Given the description of an element on the screen output the (x, y) to click on. 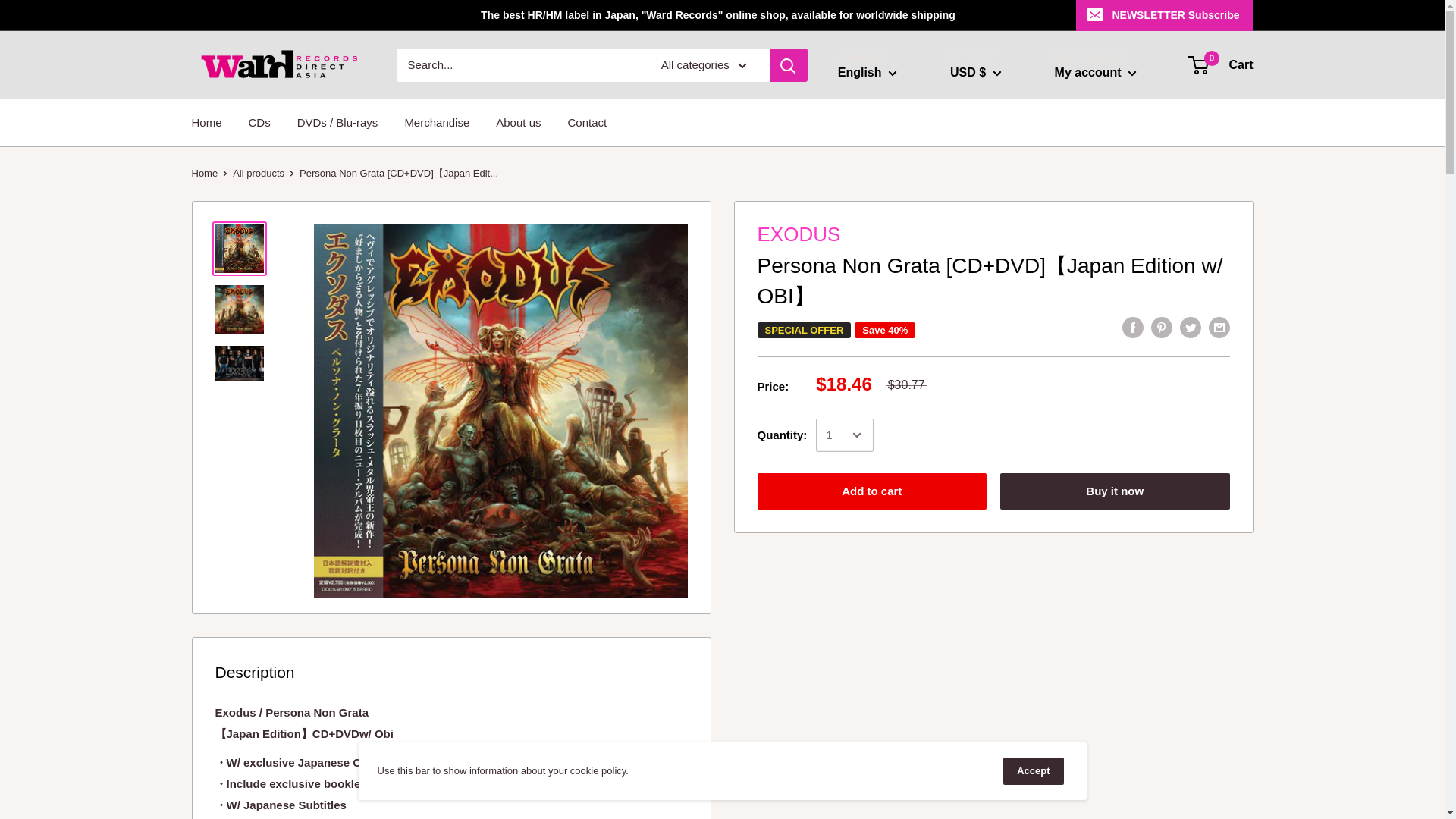
ANG (999, 309)
AMD (999, 287)
ALL (999, 265)
BOB (999, 527)
zh-CN (878, 180)
AED (999, 221)
BSD (999, 549)
CDF (999, 615)
ko (878, 158)
BDT (999, 440)
BAM (999, 396)
BGN (999, 462)
BZD (999, 593)
AWG (999, 353)
BWP (999, 571)
